Given the description of an element on the screen output the (x, y) to click on. 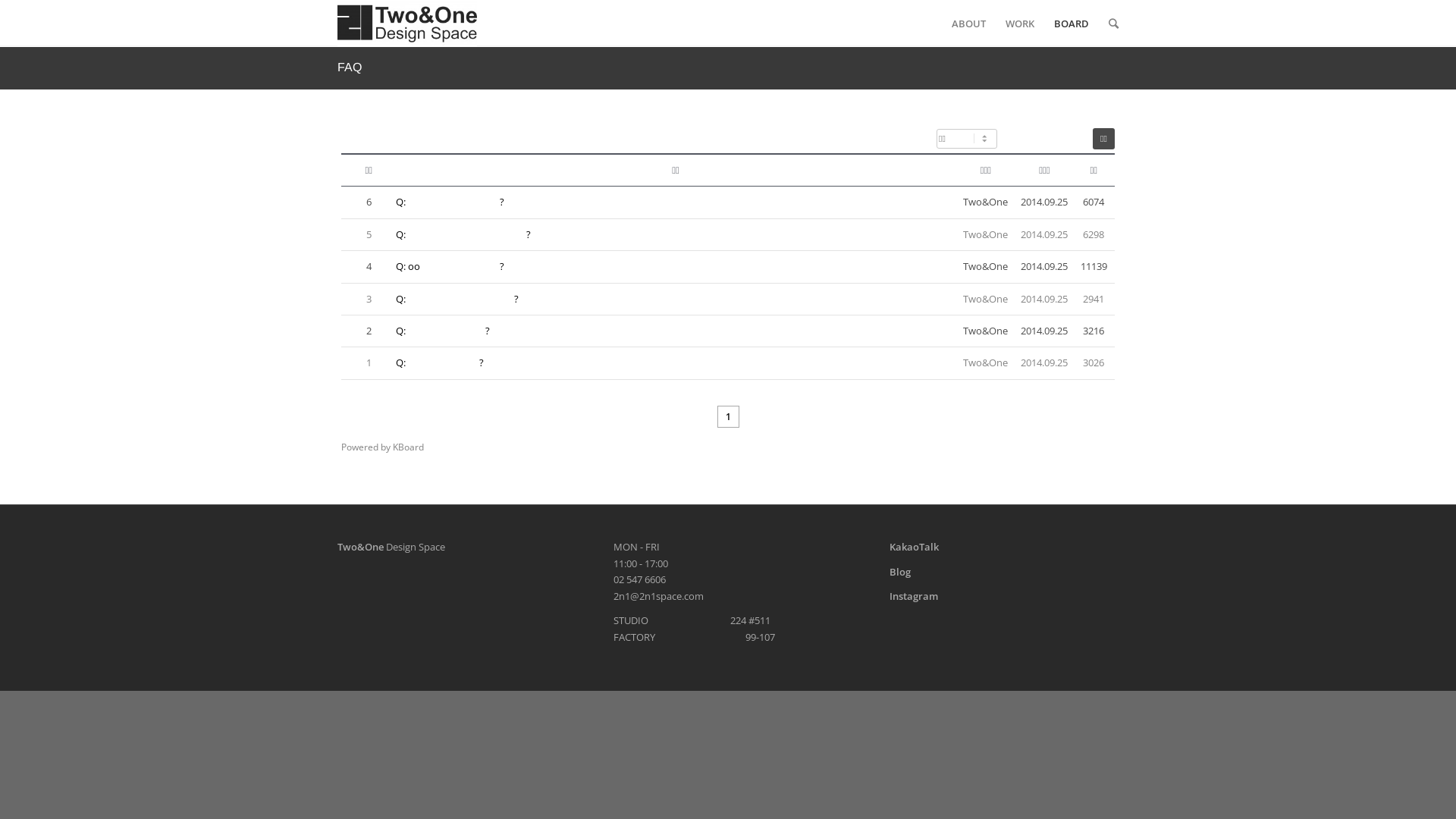
KakaoTalk Element type: text (913, 546)
Blog Element type: text (899, 571)
1 Element type: text (728, 416)
Powered by KBoard Element type: text (382, 446)
ABOUT Element type: text (968, 23)
FAQ Element type: text (349, 66)
WORK Element type: text (1019, 23)
Instagram Element type: text (913, 595)
BOARD Element type: text (1071, 23)
